Given the description of an element on the screen output the (x, y) to click on. 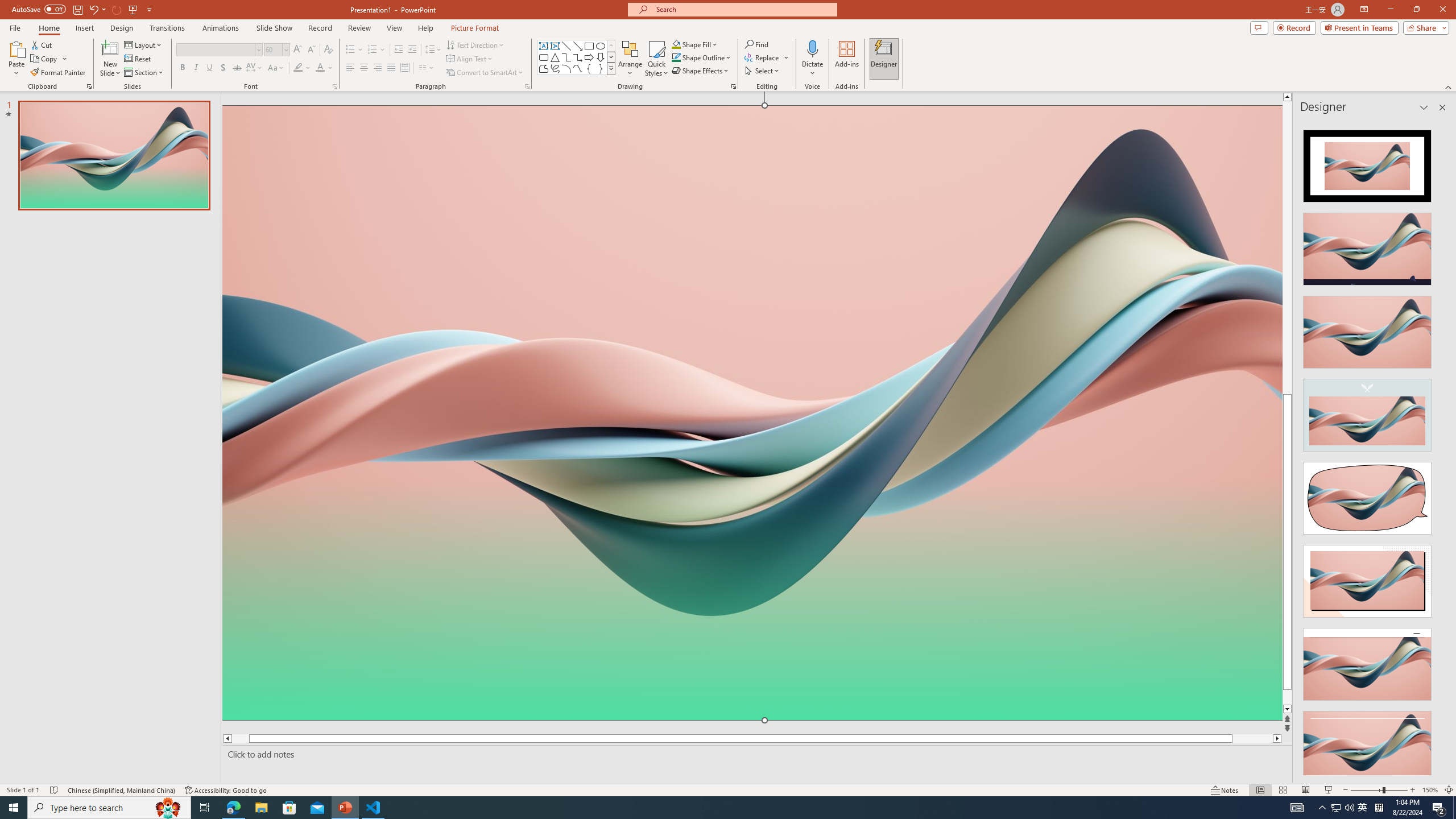
Class: NetUIScrollBar (1441, 447)
